Given the description of an element on the screen output the (x, y) to click on. 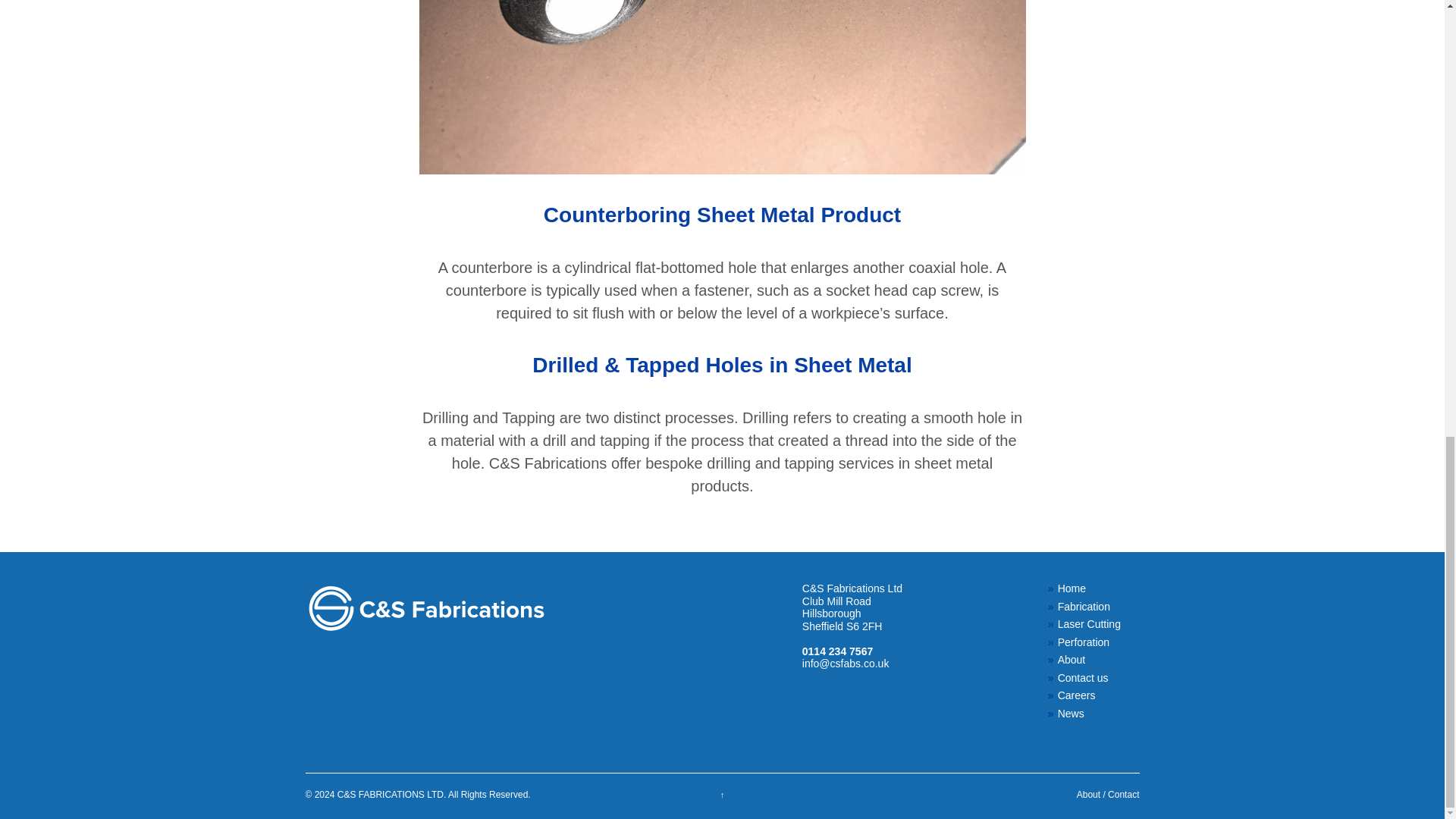
Home (1087, 588)
Careers (1087, 695)
Perforation (1087, 642)
Contact (1123, 794)
News (1087, 713)
Contact us (1087, 677)
Laser Cutting (1087, 624)
About (1087, 659)
Fabrication (1087, 606)
About (1088, 794)
